Given the description of an element on the screen output the (x, y) to click on. 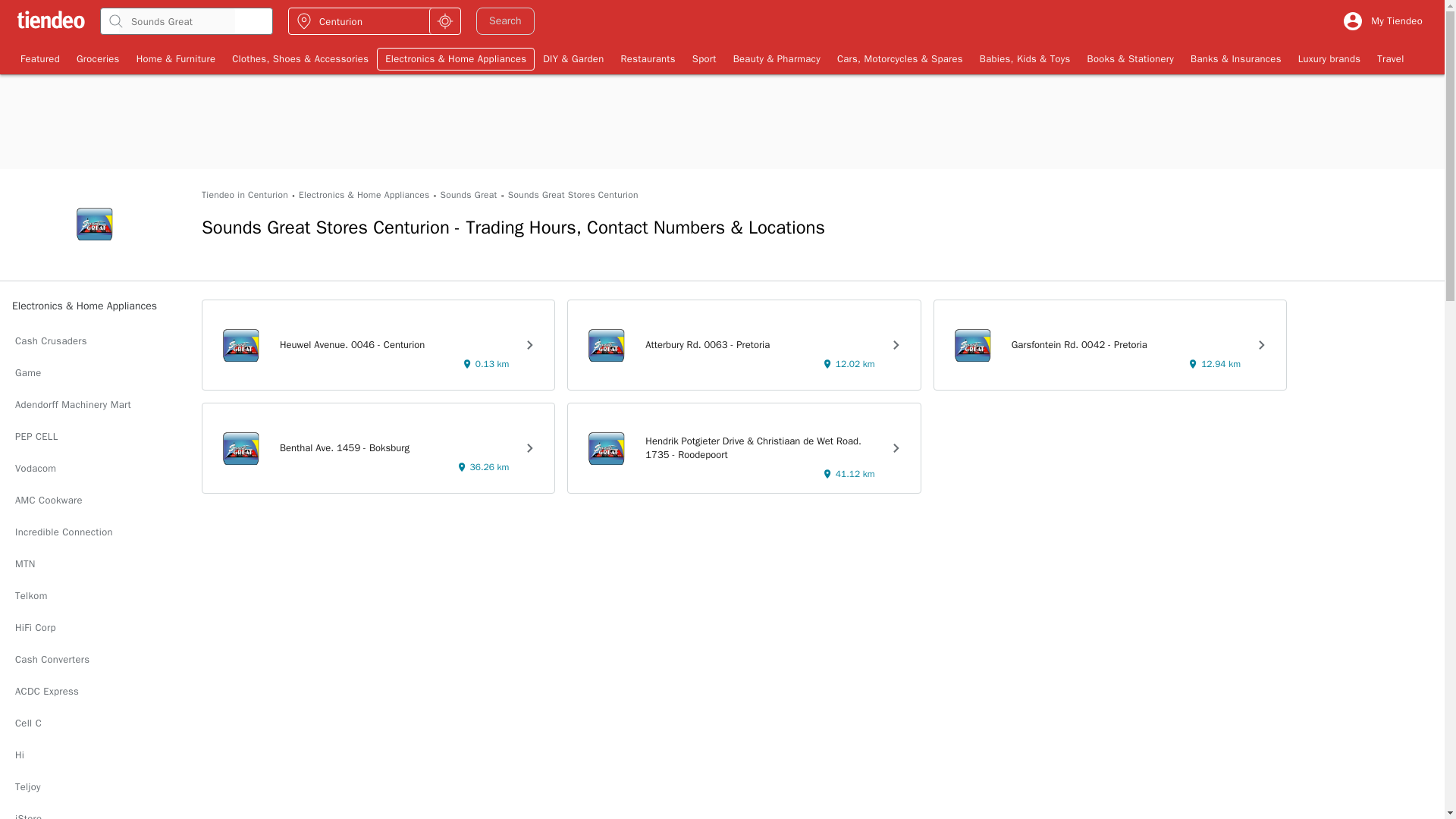
Groceries (98, 58)
Game (94, 373)
Vodacom (94, 468)
Cash Converters (94, 659)
MTN (94, 563)
Sounds Great (467, 195)
Cash Crusaders (94, 341)
ACDC Express (94, 691)
Travel (1390, 58)
Sport (704, 58)
